Given the description of an element on the screen output the (x, y) to click on. 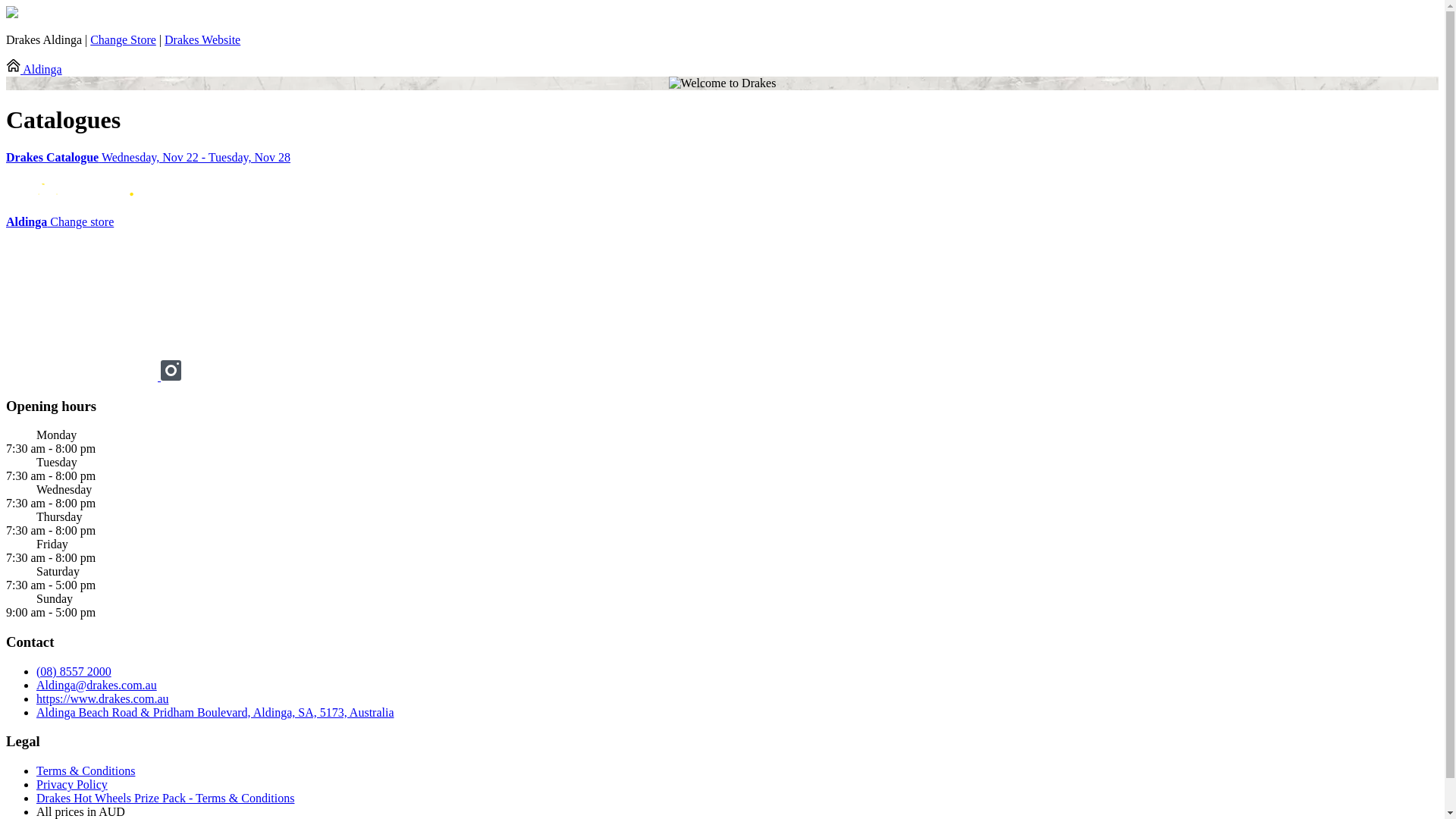
https://www.drakes.com.au Element type: text (102, 698)
Drakes Hot Wheels Prize Pack - Terms & Conditions Element type: text (165, 797)
Facebook Element type: hover (83, 376)
Drakes Catalogue Wednesday, Nov 22 - Tuesday, Nov 28 Element type: text (722, 156)
Aldinga Change store Element type: text (59, 221)
(08) 8557 2000 Element type: text (73, 671)
Terms & Conditions Element type: text (85, 770)
Privacy Policy Element type: text (71, 784)
Instagram drakessupermarkets Element type: hover (170, 376)
Drakes Website Element type: text (202, 39)
Aldinga@drakes.com.au Element type: text (96, 684)
Aldinga Element type: text (34, 68)
Change Store Element type: text (123, 39)
